Given the description of an element on the screen output the (x, y) to click on. 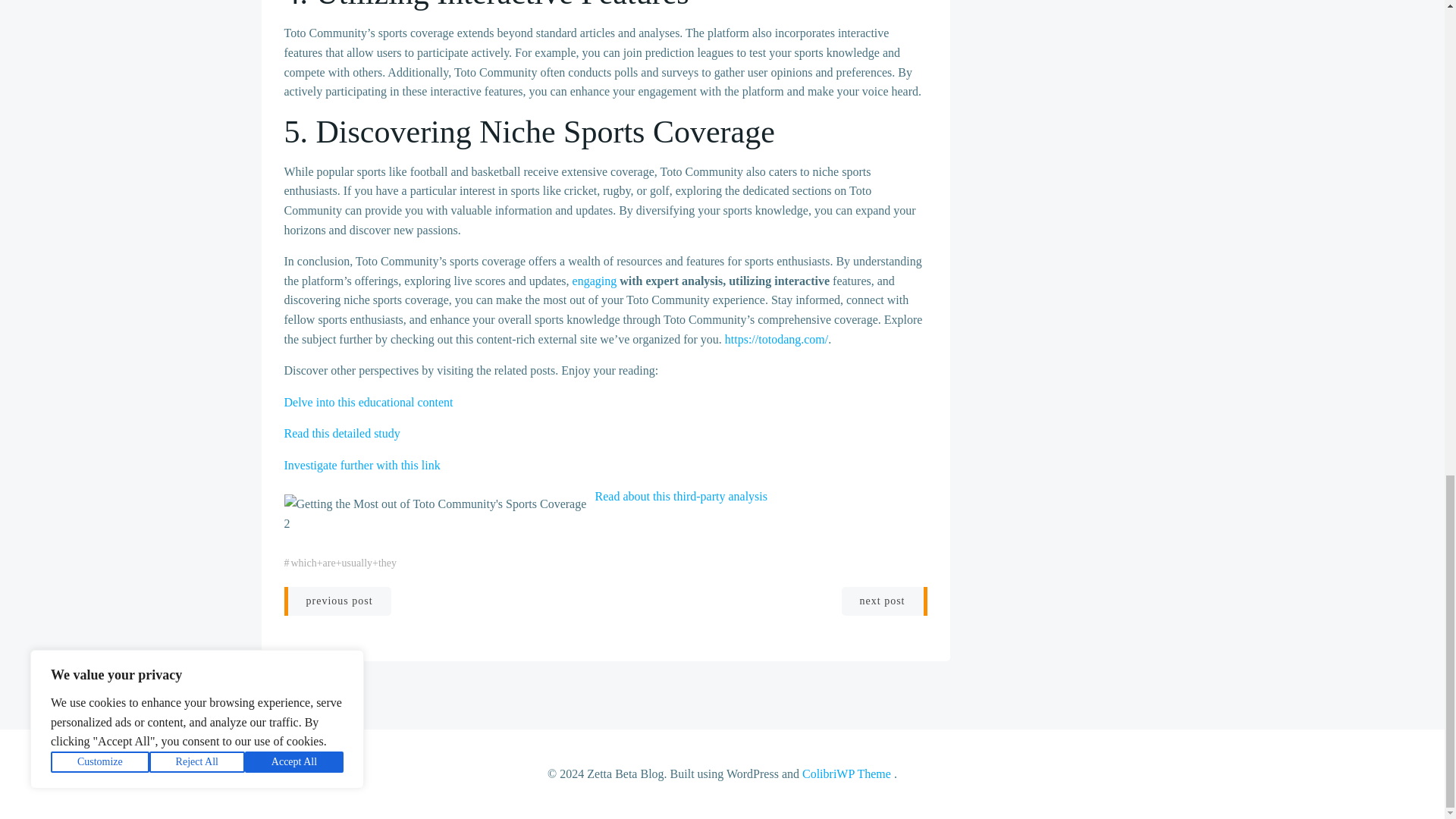
Read about this third-party analysis (680, 495)
engaging (594, 280)
Investigate further with this link (361, 464)
previous post (336, 601)
Delve into this educational content (367, 401)
next post (884, 601)
Read this detailed study (340, 432)
